Given the description of an element on the screen output the (x, y) to click on. 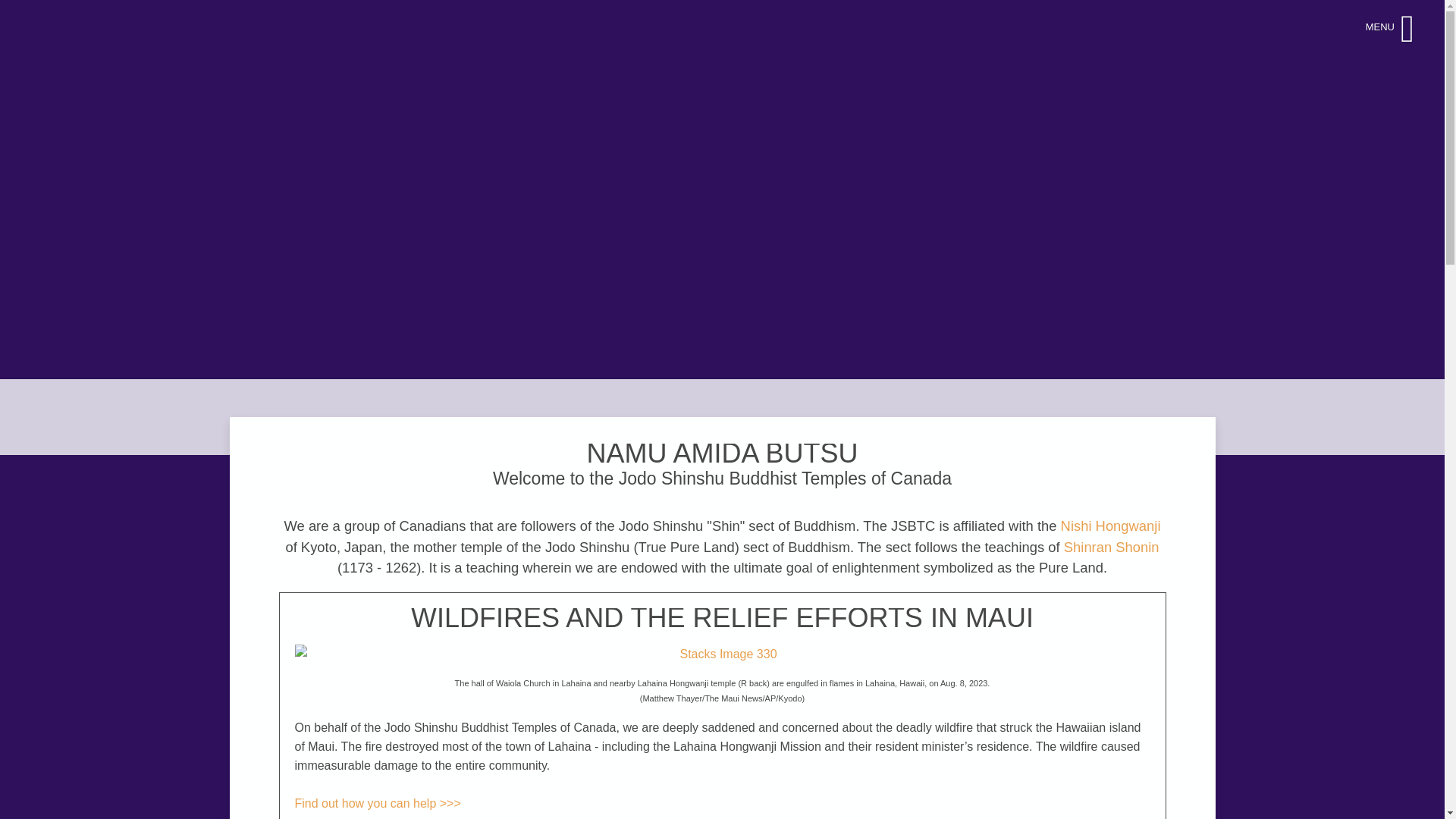
Find out how you can help >>> Element type: text (377, 803)
Shinran Shonin Element type: text (1111, 547)
Nishi Hongwanji Element type: text (1110, 525)
BISHOP AOKI Element type: hover (721, 653)
